Given the description of an element on the screen output the (x, y) to click on. 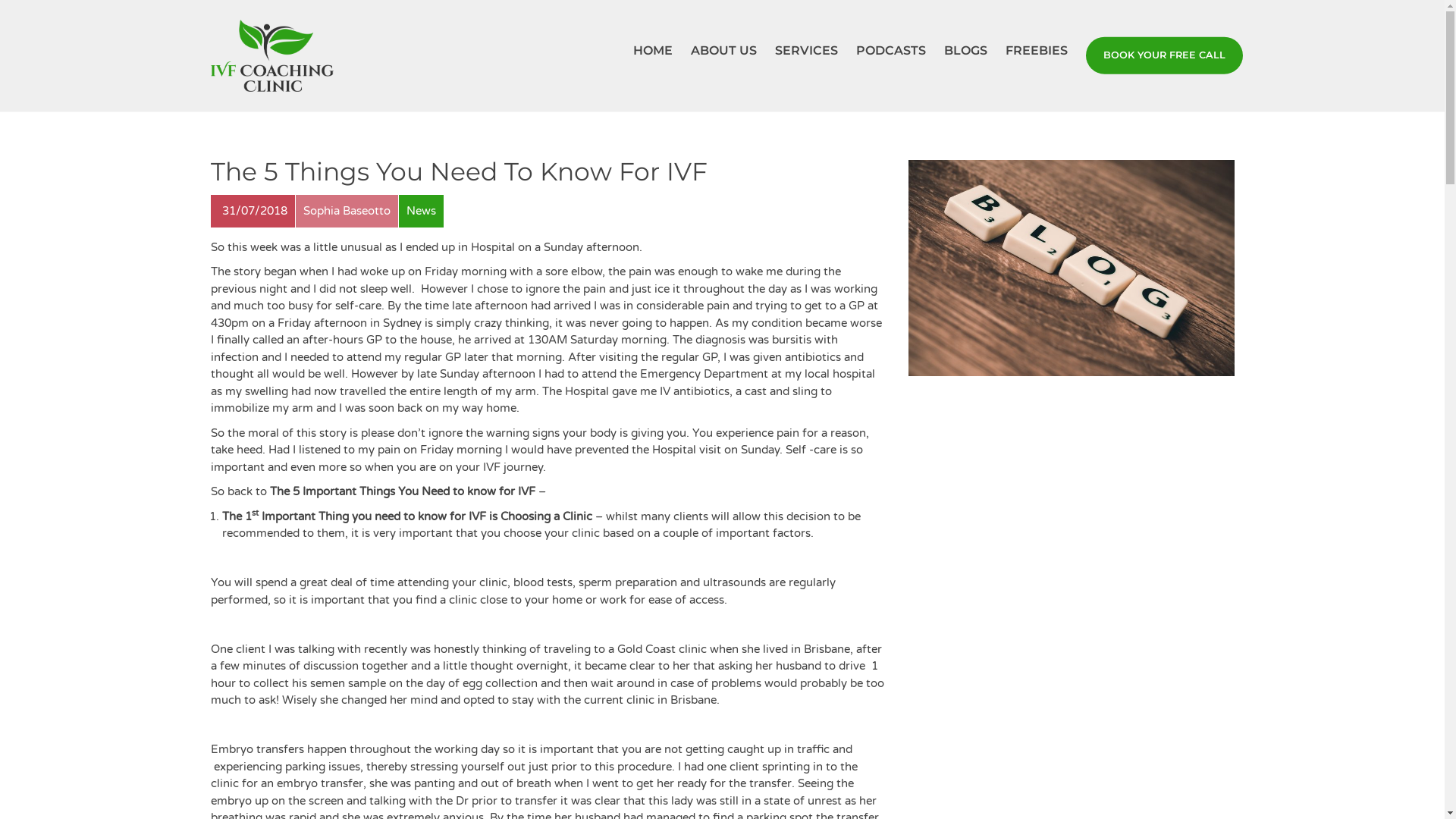
BOOK YOUR FREE CALL Element type: text (1163, 55)
HOME Element type: text (651, 50)
PODCASTS Element type: text (890, 50)
ABOUT US Element type: text (722, 50)
News Element type: text (419, 210)
FREEBIES Element type: text (1036, 50)
BLOGS Element type: text (964, 50)
SERVICES Element type: text (806, 50)
Sophia Baseotto Element type: text (345, 210)
